Given the description of an element on the screen output the (x, y) to click on. 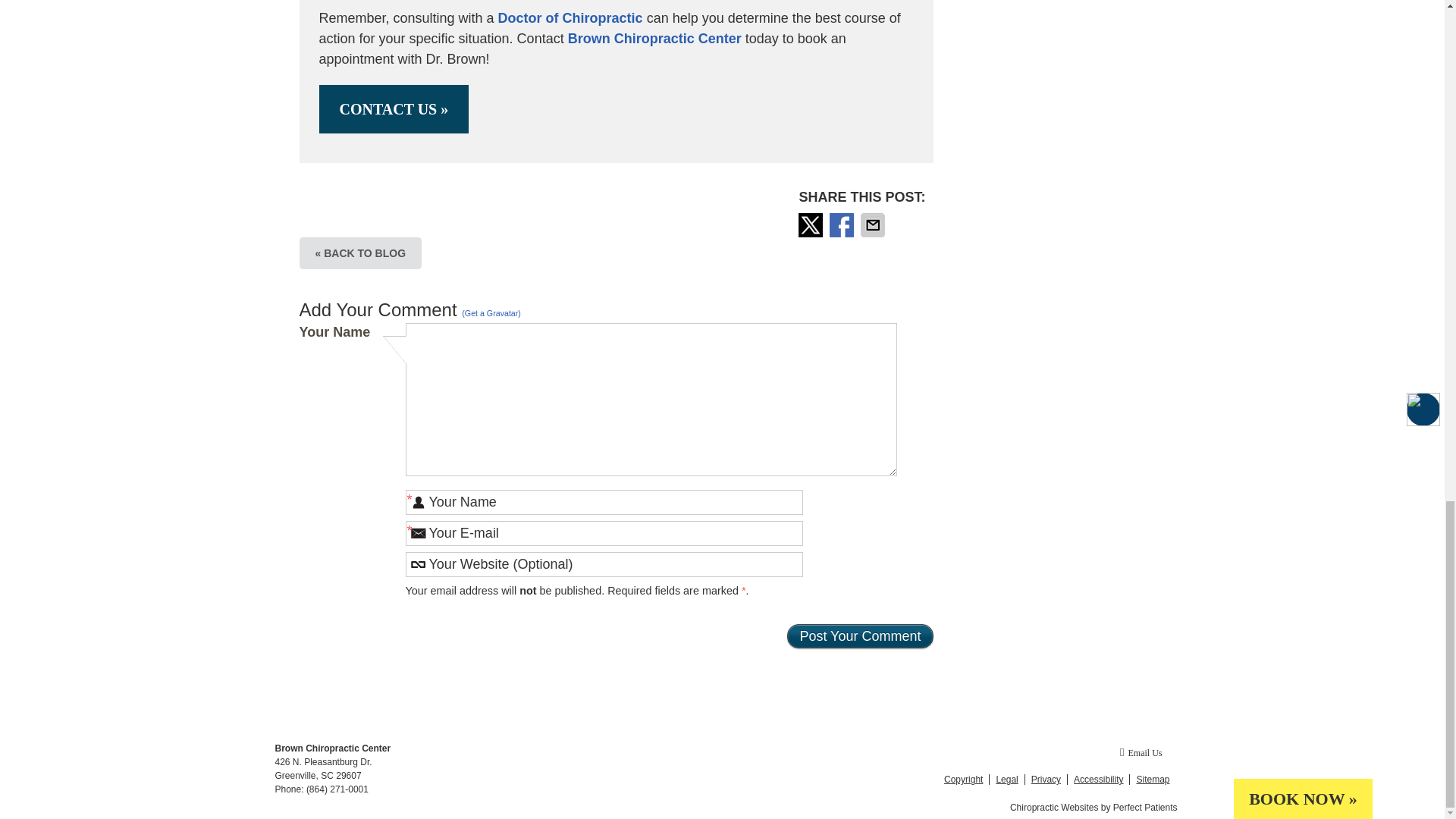
Contact (1140, 752)
Footer Links (1053, 779)
Your E-mail (603, 533)
Your Name (603, 502)
Post Your Comment (860, 636)
Your Name (603, 502)
Your E-mail (603, 533)
